Given the description of an element on the screen output the (x, y) to click on. 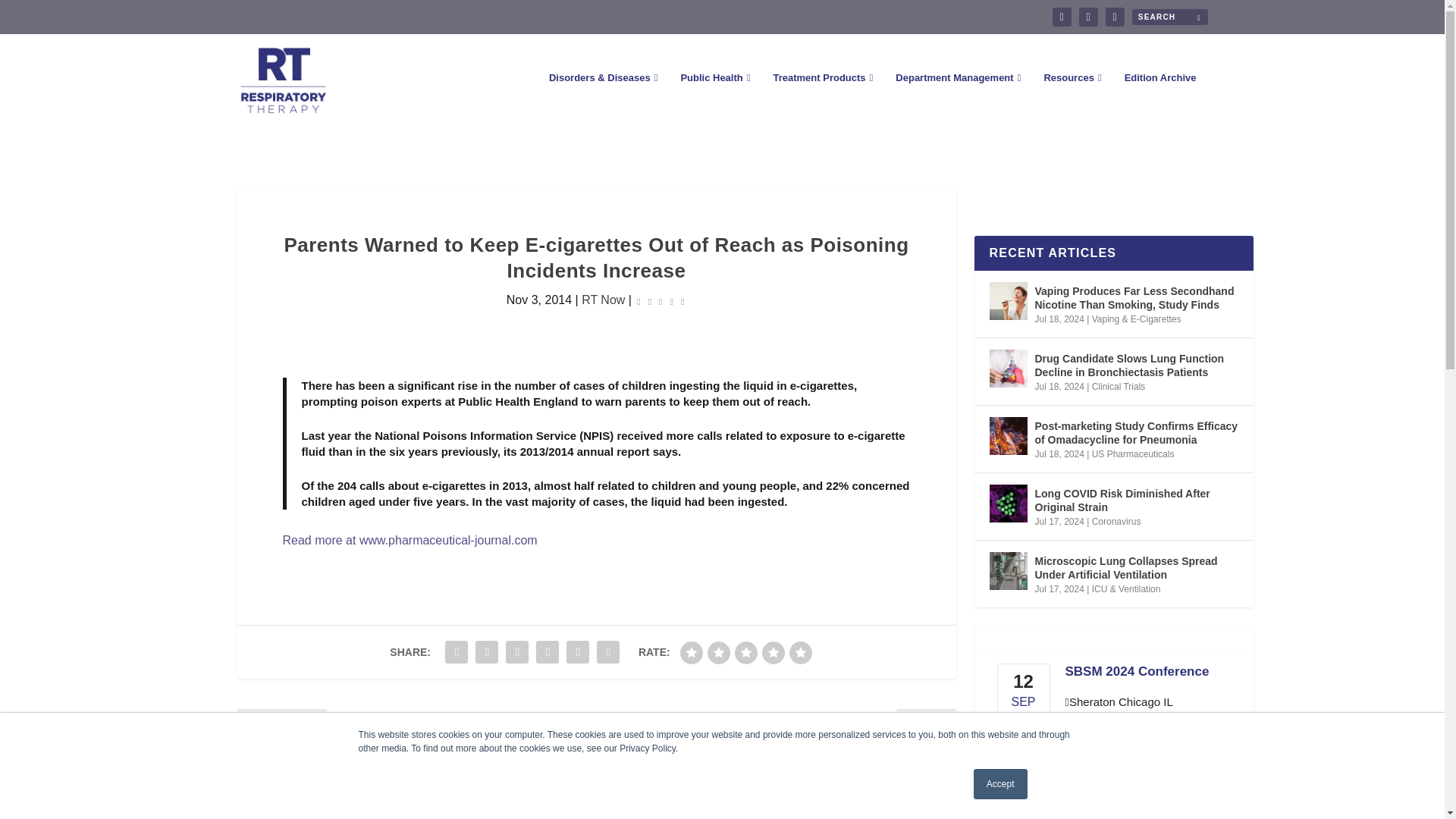
Accept (1000, 784)
Edition Archive (1160, 98)
Public Health (714, 98)
Search for: (1169, 17)
Resources (1071, 98)
bad (691, 652)
Treatment Products (822, 98)
poor (718, 652)
gorgeous (800, 652)
regular (746, 652)
